Given the description of an element on the screen output the (x, y) to click on. 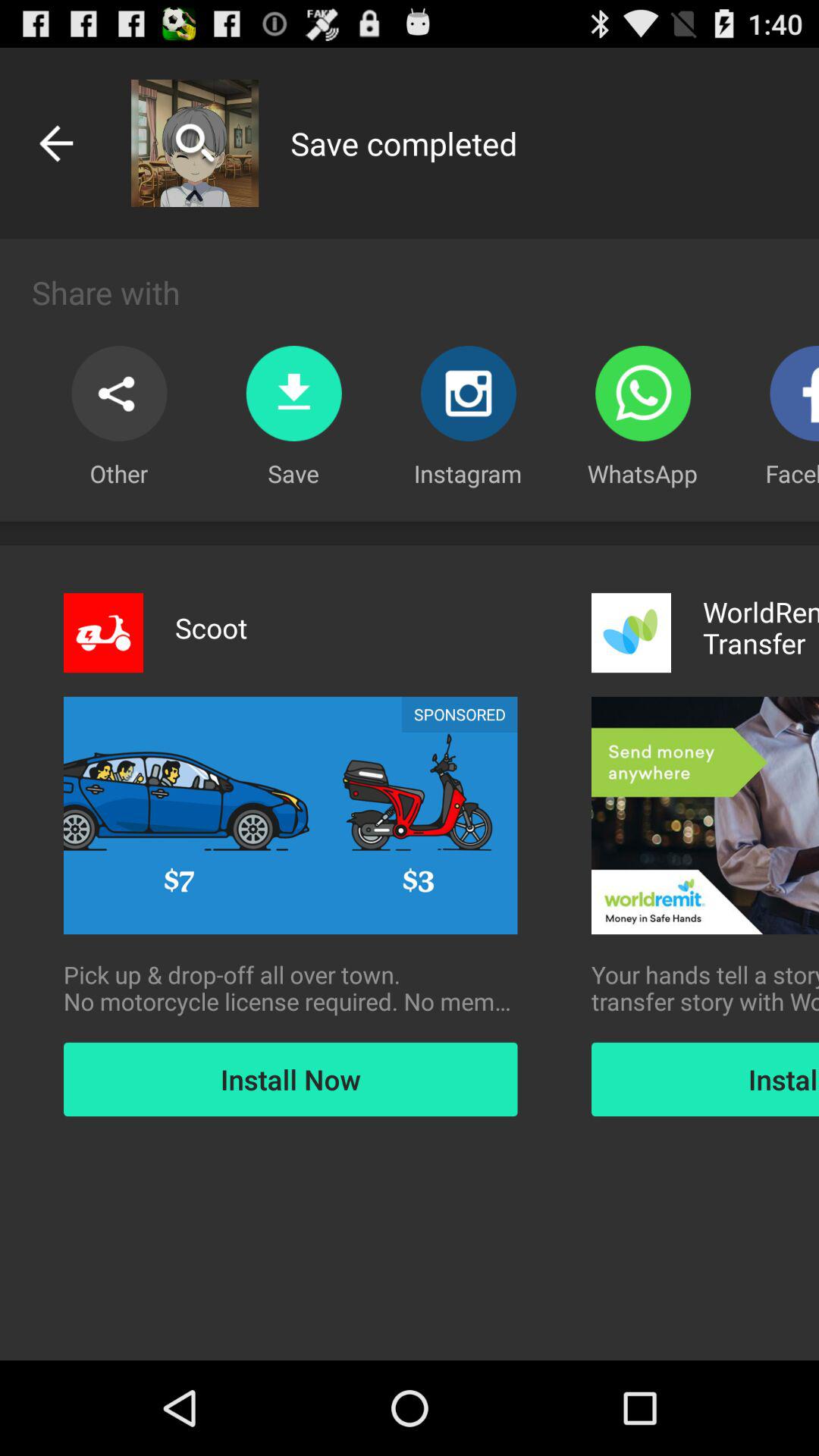
turn on the icon to the left of your hands tell icon (290, 988)
